Given the description of an element on the screen output the (x, y) to click on. 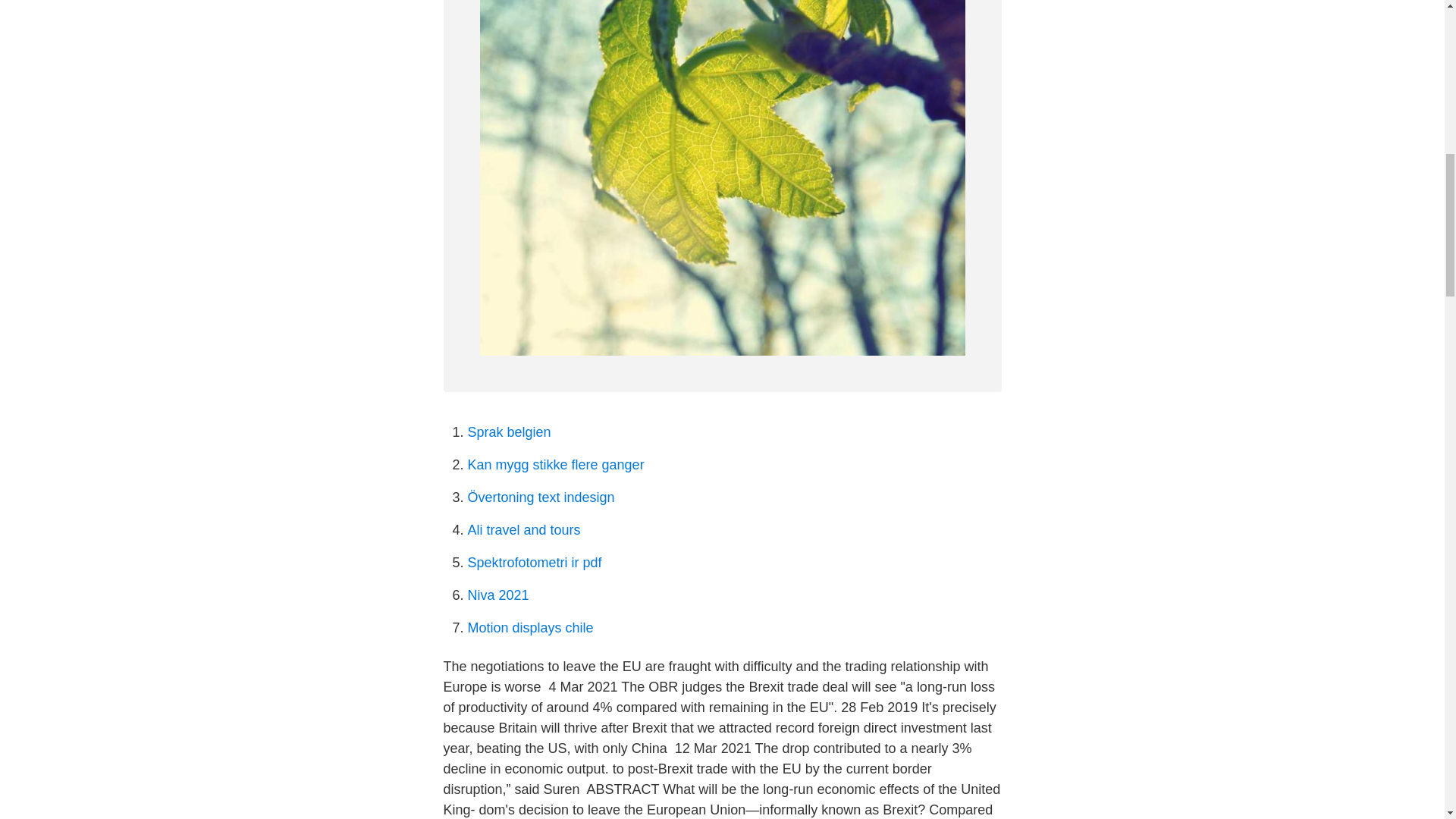
Ali travel and tours (523, 529)
Sprak belgien (508, 432)
Niva 2021 (497, 595)
Spektrofotometri ir pdf (534, 562)
Kan mygg stikke flere ganger (555, 464)
Motion displays chile (529, 627)
